Given the description of an element on the screen output the (x, y) to click on. 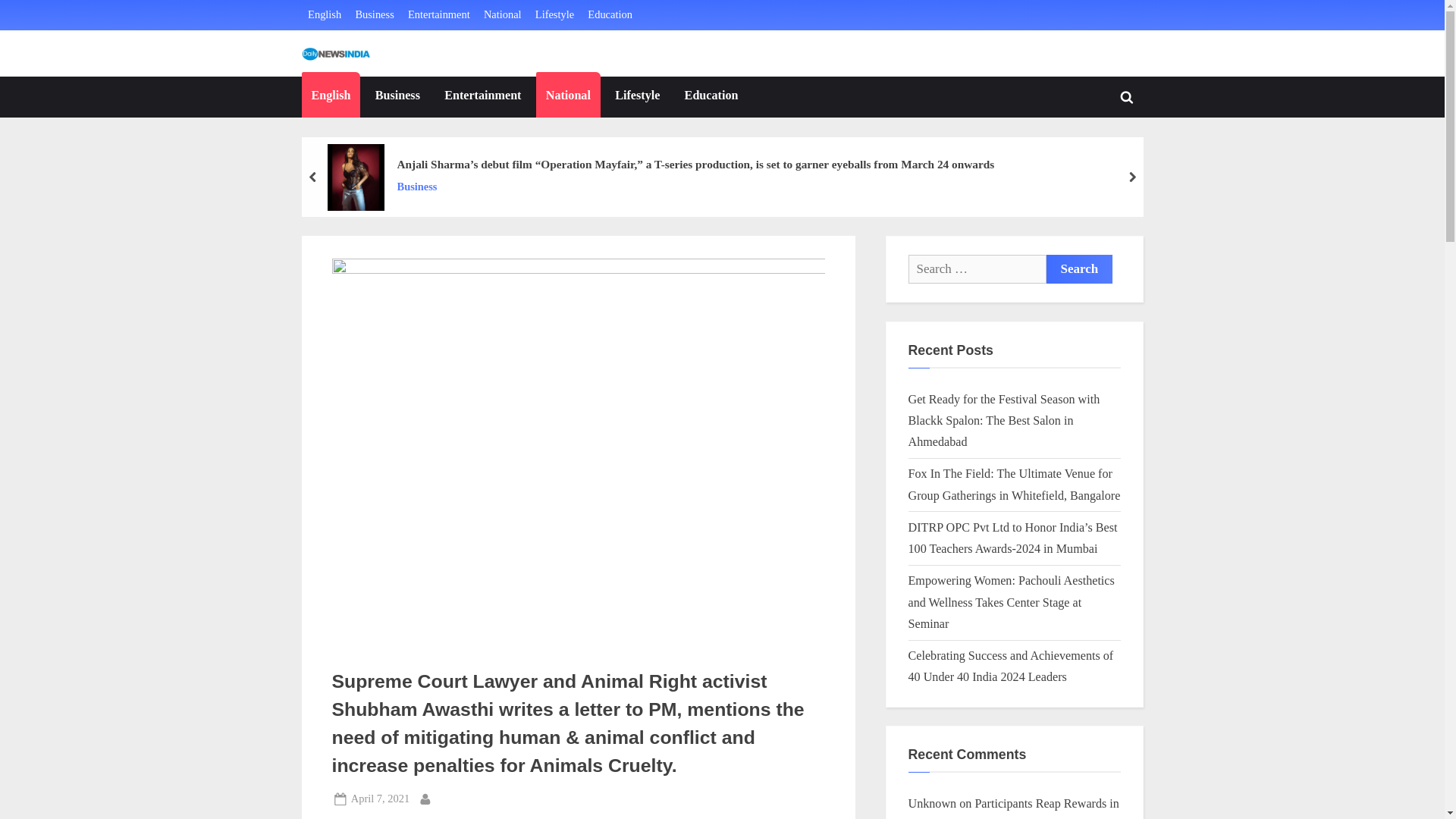
Daily News India (440, 66)
Business (397, 96)
National (502, 15)
Education (609, 15)
English (323, 15)
English (331, 96)
Toggle search form (1126, 96)
Search (1079, 268)
Entertainment (482, 96)
Business (695, 186)
National (567, 96)
Entertainment (438, 15)
Lifestyle (637, 96)
Business (374, 15)
Lifestyle (554, 15)
